Given the description of an element on the screen output the (x, y) to click on. 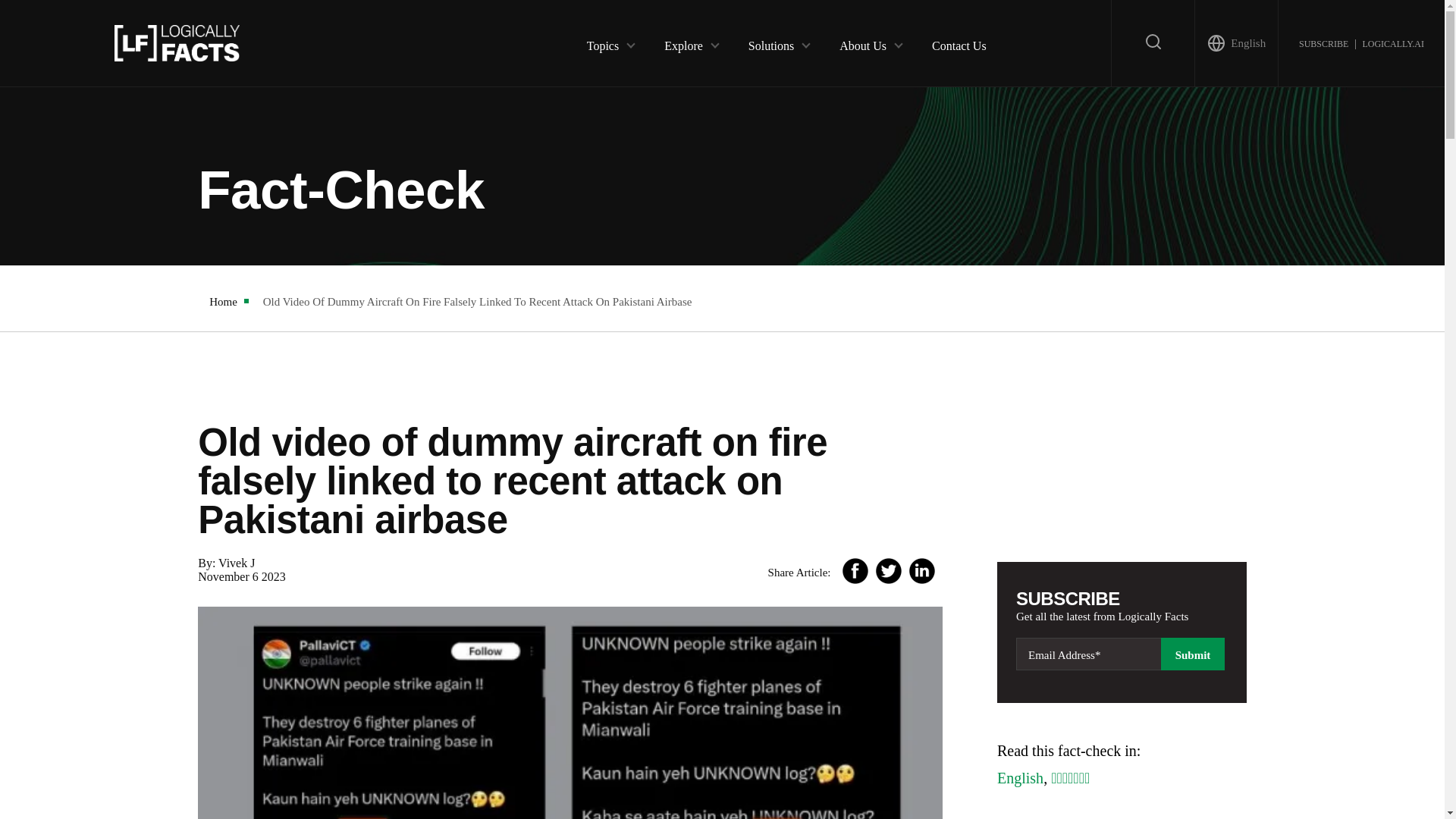
Submit (1192, 654)
LOGICALLY.AI (1392, 42)
Topics (602, 42)
SUBSCRIBE (1323, 42)
Contact Us (959, 42)
About Us (863, 42)
Solutions (770, 42)
Explore (683, 42)
Home (223, 301)
